Given the description of an element on the screen output the (x, y) to click on. 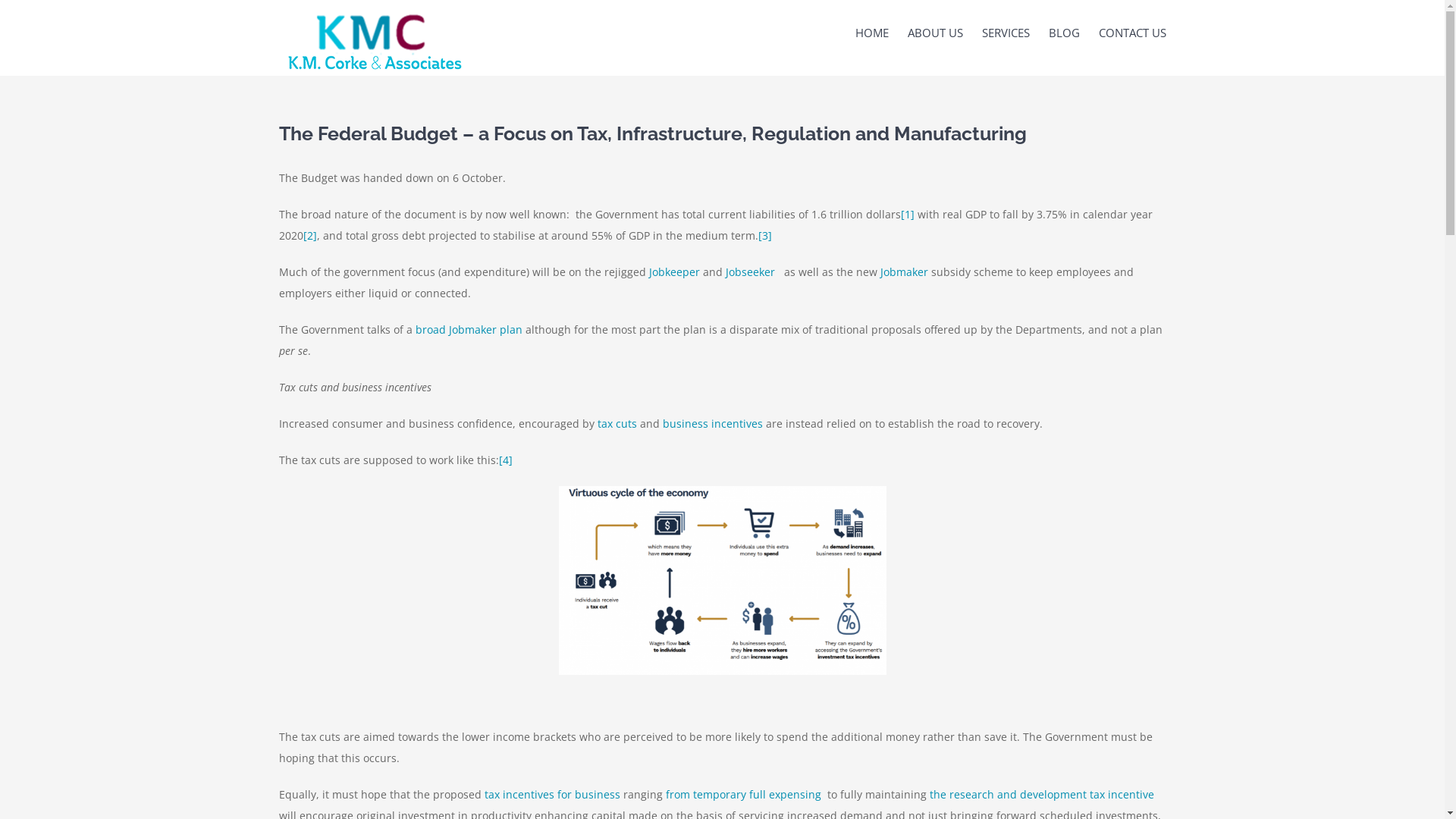
Jobseeker Element type: text (749, 271)
[3] Element type: text (764, 235)
broad Jobmaker plan Element type: text (468, 329)
tax incentives for business Element type: text (551, 794)
Jobkeeper Element type: text (674, 271)
[4] Element type: text (505, 459)
SERVICES Element type: text (1005, 31)
CONTACT US Element type: text (1131, 31)
BLOG Element type: text (1063, 31)
ABOUT US Element type: text (934, 31)
[2] Element type: text (309, 235)
business incentives Element type: text (712, 423)
Jobmaker Element type: text (903, 271)
from temporary full expensing Element type: text (744, 794)
HOME Element type: text (871, 31)
tax cuts Element type: text (617, 423)
the research and development tax incentive Element type: text (1041, 794)
[1] Element type: text (907, 214)
